Given the description of an element on the screen output the (x, y) to click on. 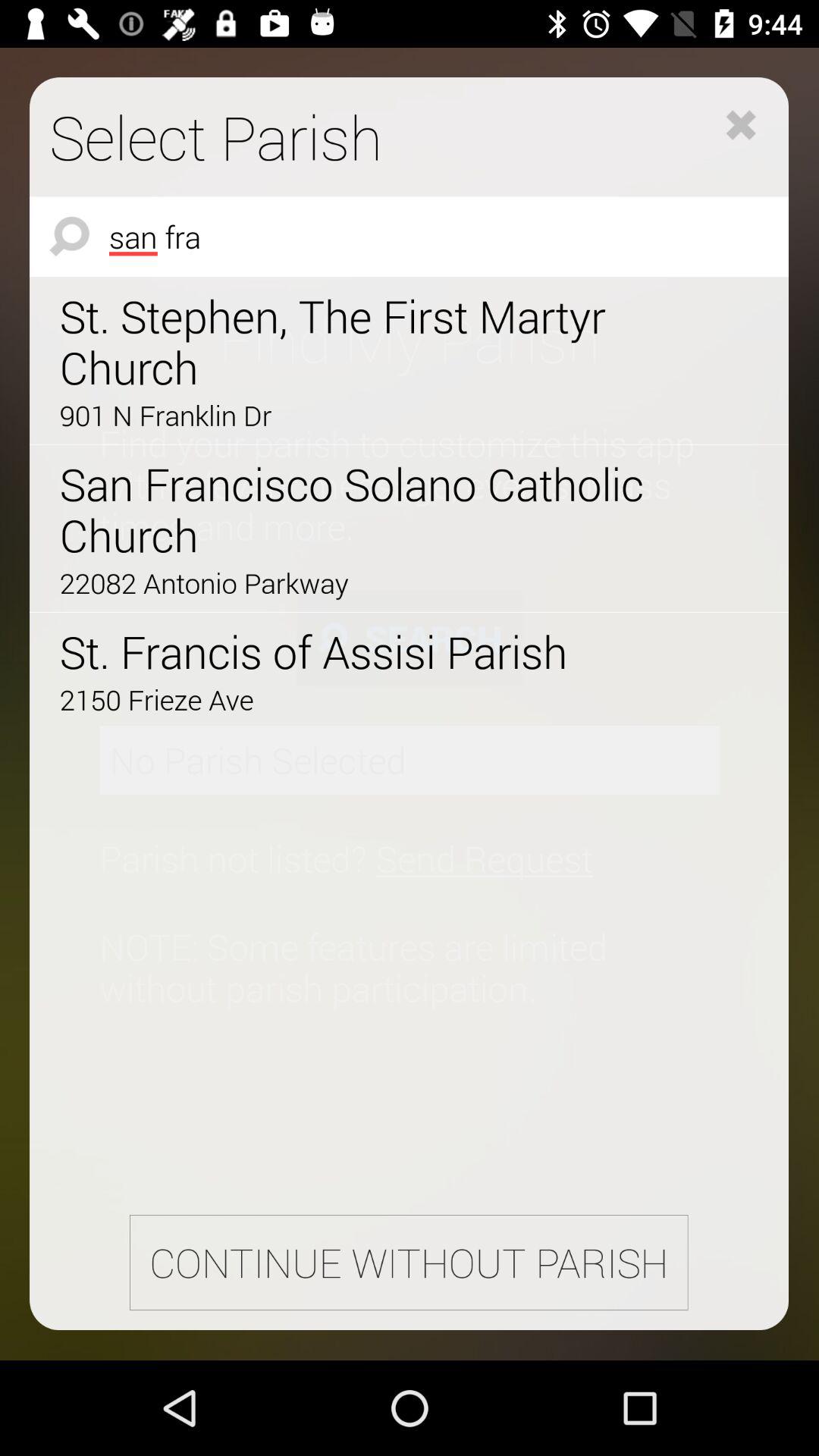
choose the icon above the 22082 antonio parkway item (366, 509)
